Given the description of an element on the screen output the (x, y) to click on. 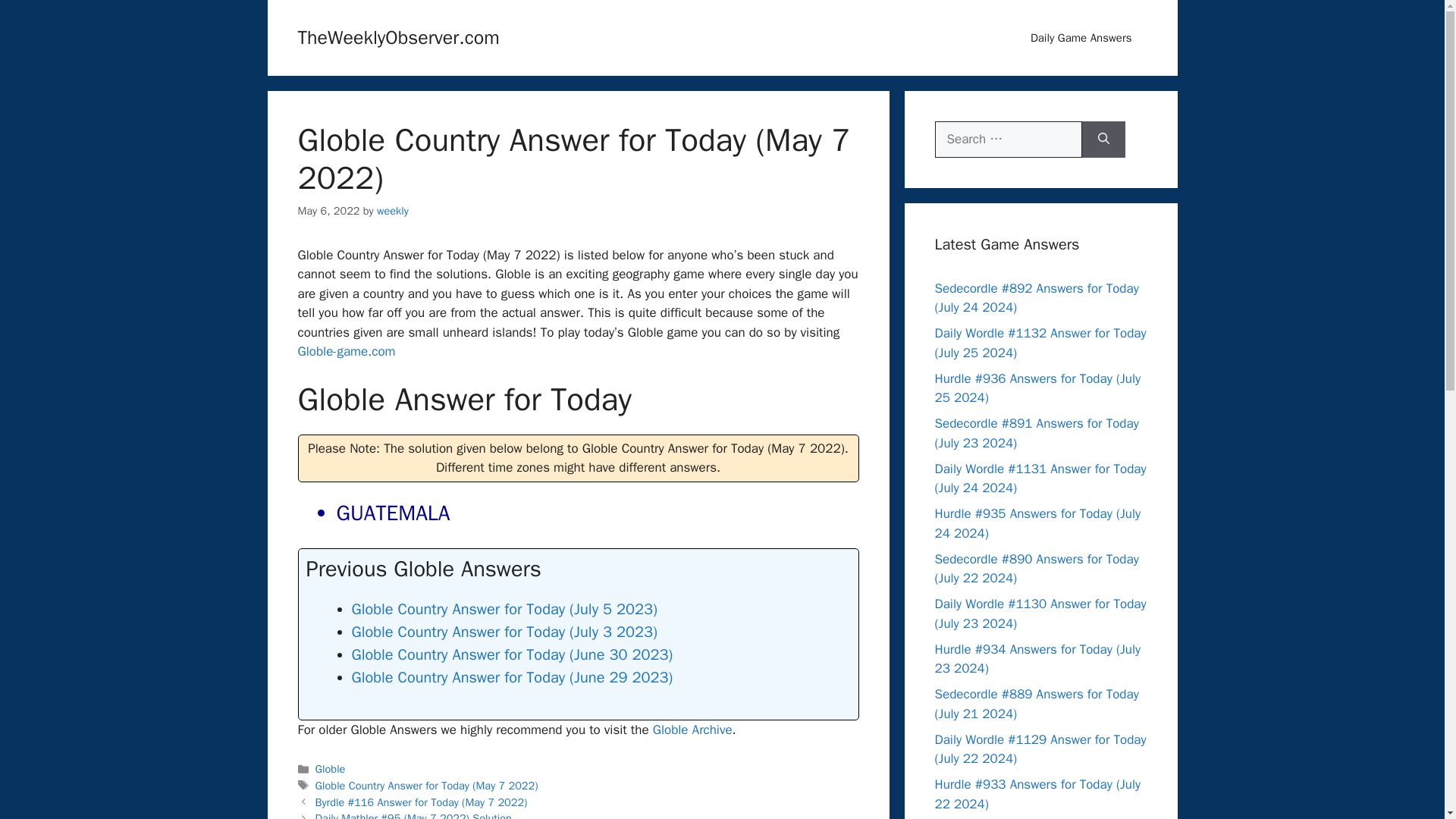
Previous (421, 802)
weekly (393, 210)
Globle-game.com (345, 351)
Globle Archive (692, 729)
Search for: (1007, 139)
Globle (330, 768)
Next (413, 815)
TheWeeklyObserver.com (398, 37)
View all posts by weekly (393, 210)
Daily Game Answers (1080, 37)
